Given the description of an element on the screen output the (x, y) to click on. 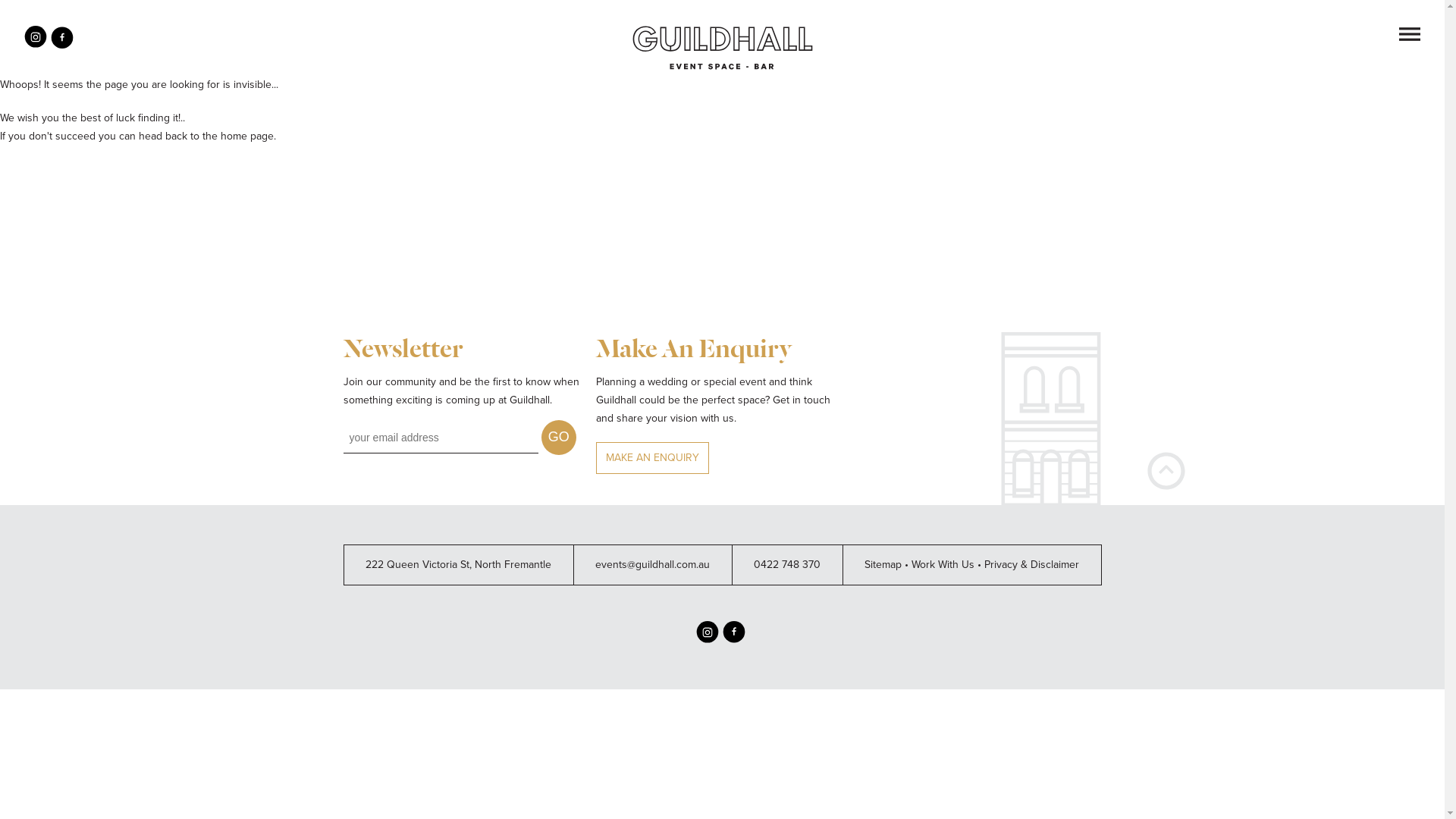
Privacy & Disclaimer Element type: text (1031, 564)
Guild Hall North Fremantle Event Space Facebook page Element type: hover (732, 639)
home Element type: text (233, 135)
222 Queen Victoria St, North Fremantle Element type: text (458, 564)
Guild Hall North Fremantle Event Space Instagram account Element type: hover (707, 639)
MAKE AN ENQUIRY Element type: text (652, 457)
Work With Us Element type: text (942, 564)
Guild Hall North Fremantle Event Space Instagram account Element type: hover (35, 44)
Guild Hall North Fremantle Event Space Facebook page Element type: hover (61, 44)
GO Element type: text (558, 437)
events@guildhall.com.au Element type: text (652, 564)
Sitemap Element type: text (882, 564)
